Given the description of an element on the screen output the (x, y) to click on. 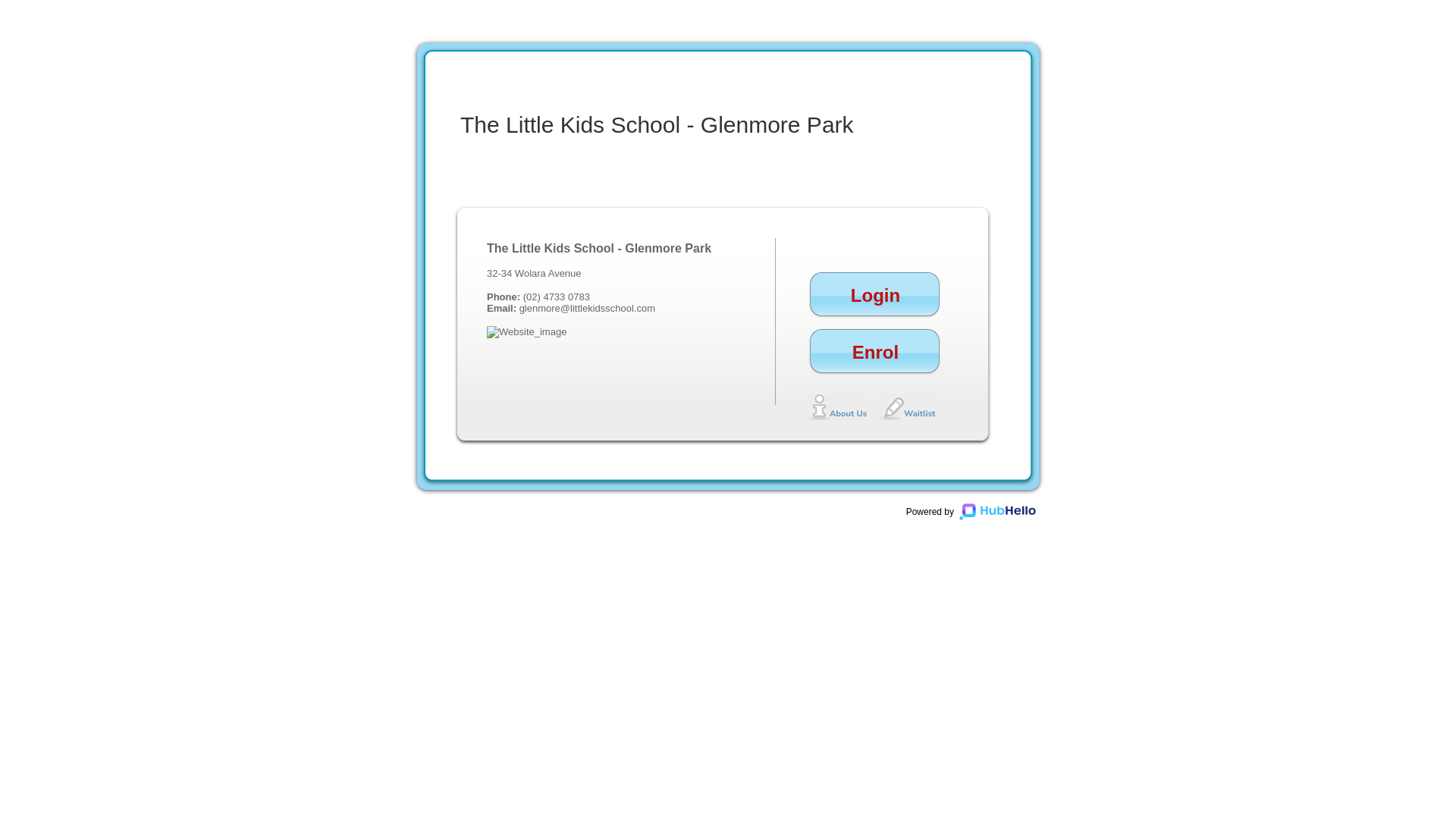
Submit Element type: text (1100, 336)
Submit Element type: text (1100, 540)
Login Element type: text (1083, 344)
Enrol Element type: text (875, 361)
Back Element type: text (1104, 379)
Back Element type: text (1068, 540)
Back Element type: text (1104, 458)
Login Element type: text (875, 304)
